Given the description of an element on the screen output the (x, y) to click on. 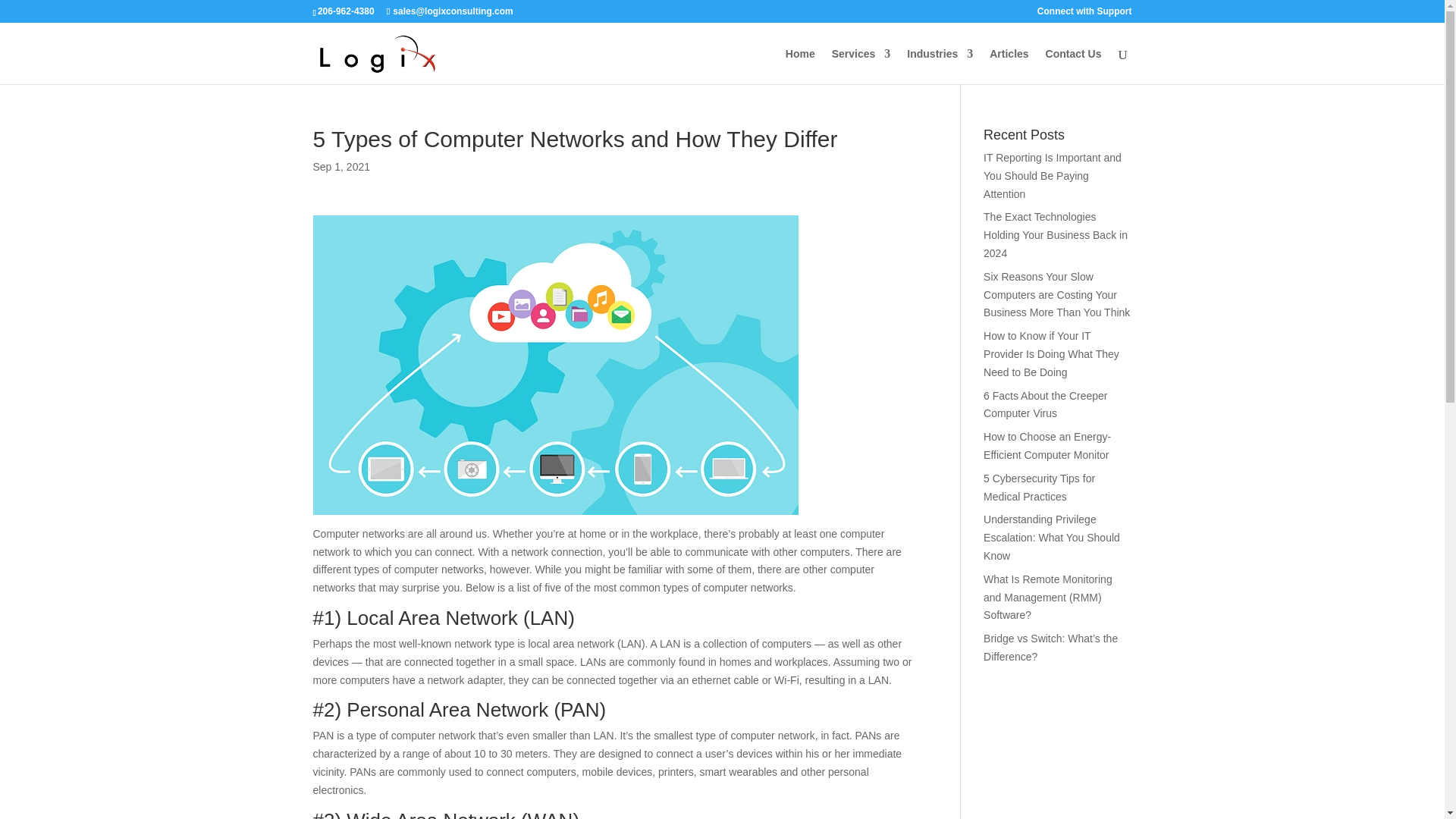
Connect with Support (1084, 14)
Contact Us (1073, 66)
Industries (939, 66)
Services (861, 66)
Articles (1008, 66)
